Given the description of an element on the screen output the (x, y) to click on. 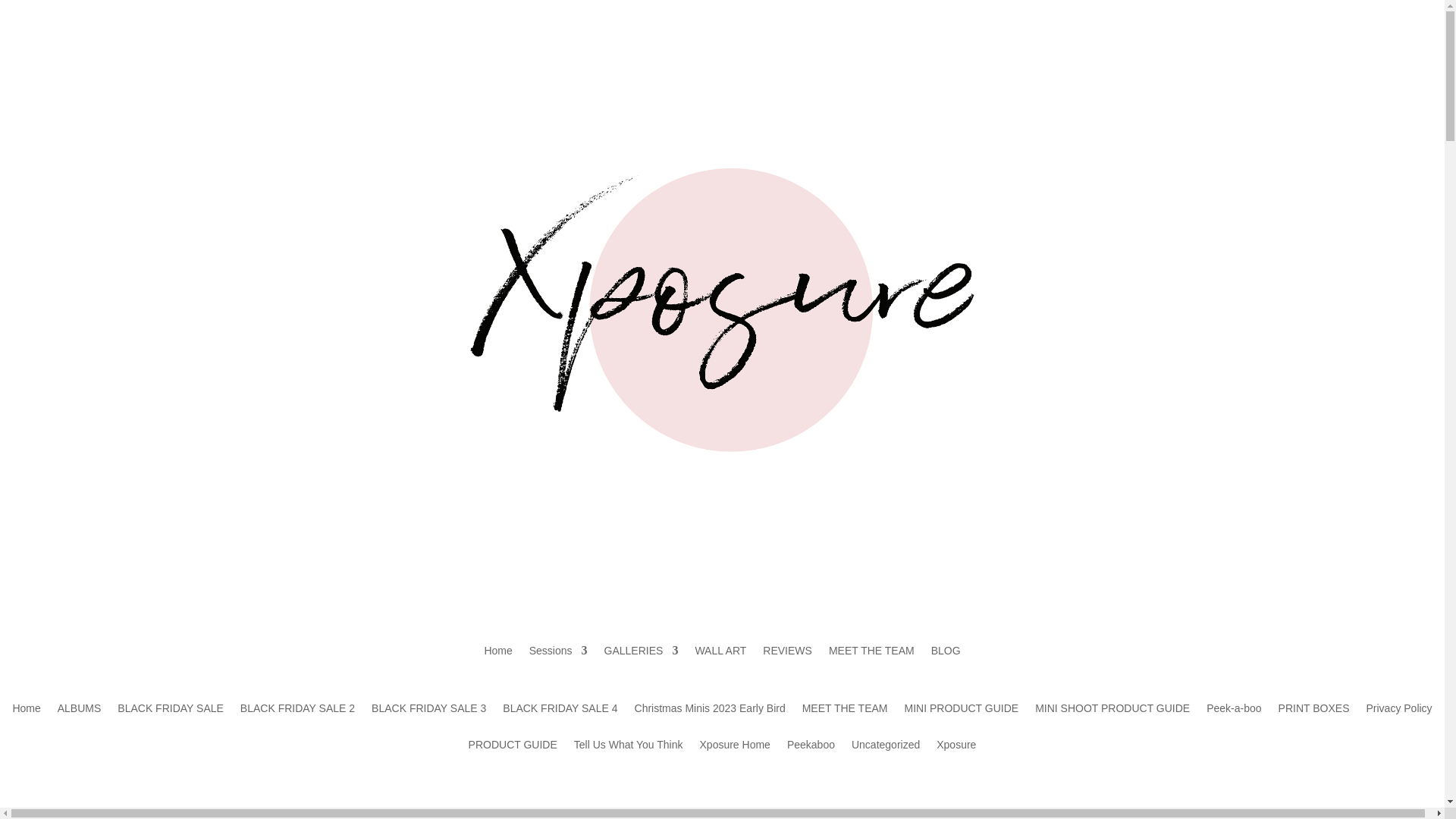
ALBUMS (79, 718)
BLACK FRIDAY SALE (170, 718)
BLOG (945, 661)
GALLERIES (641, 661)
BLACK FRIDAY SALE 3 (428, 718)
REVIEWS (787, 661)
Peek-a-boo (1233, 718)
MEET THE TEAM (871, 661)
Sessions (558, 661)
